Given the description of an element on the screen output the (x, y) to click on. 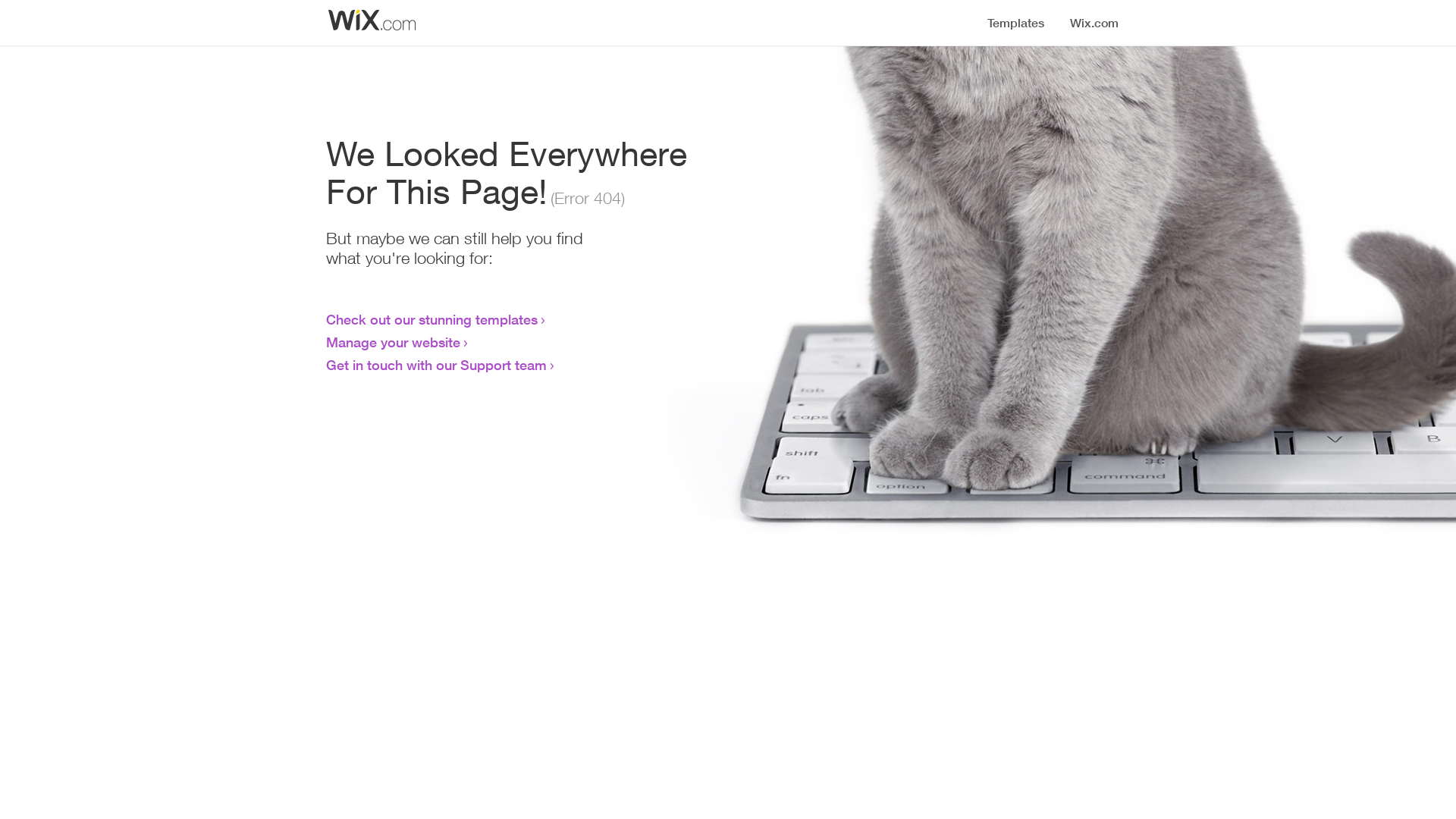
Check out our stunning templates Element type: text (431, 318)
Manage your website Element type: text (393, 341)
Get in touch with our Support team Element type: text (436, 364)
